Given the description of an element on the screen output the (x, y) to click on. 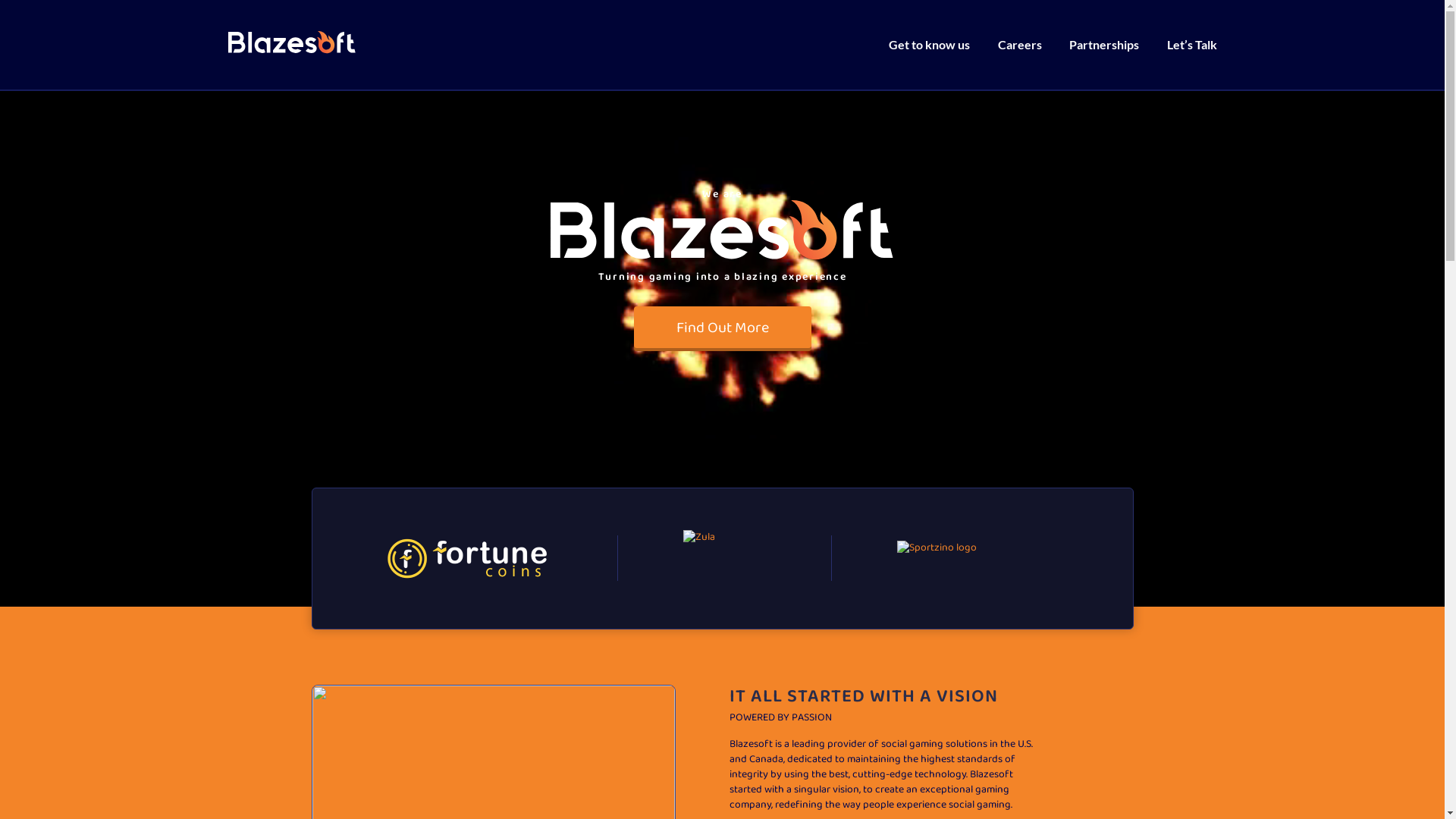
Partnerships Element type: text (1104, 43)
Careers Element type: text (1019, 43)
Get to know us Element type: text (928, 43)
Find Out More Element type: text (722, 327)
